Given the description of an element on the screen output the (x, y) to click on. 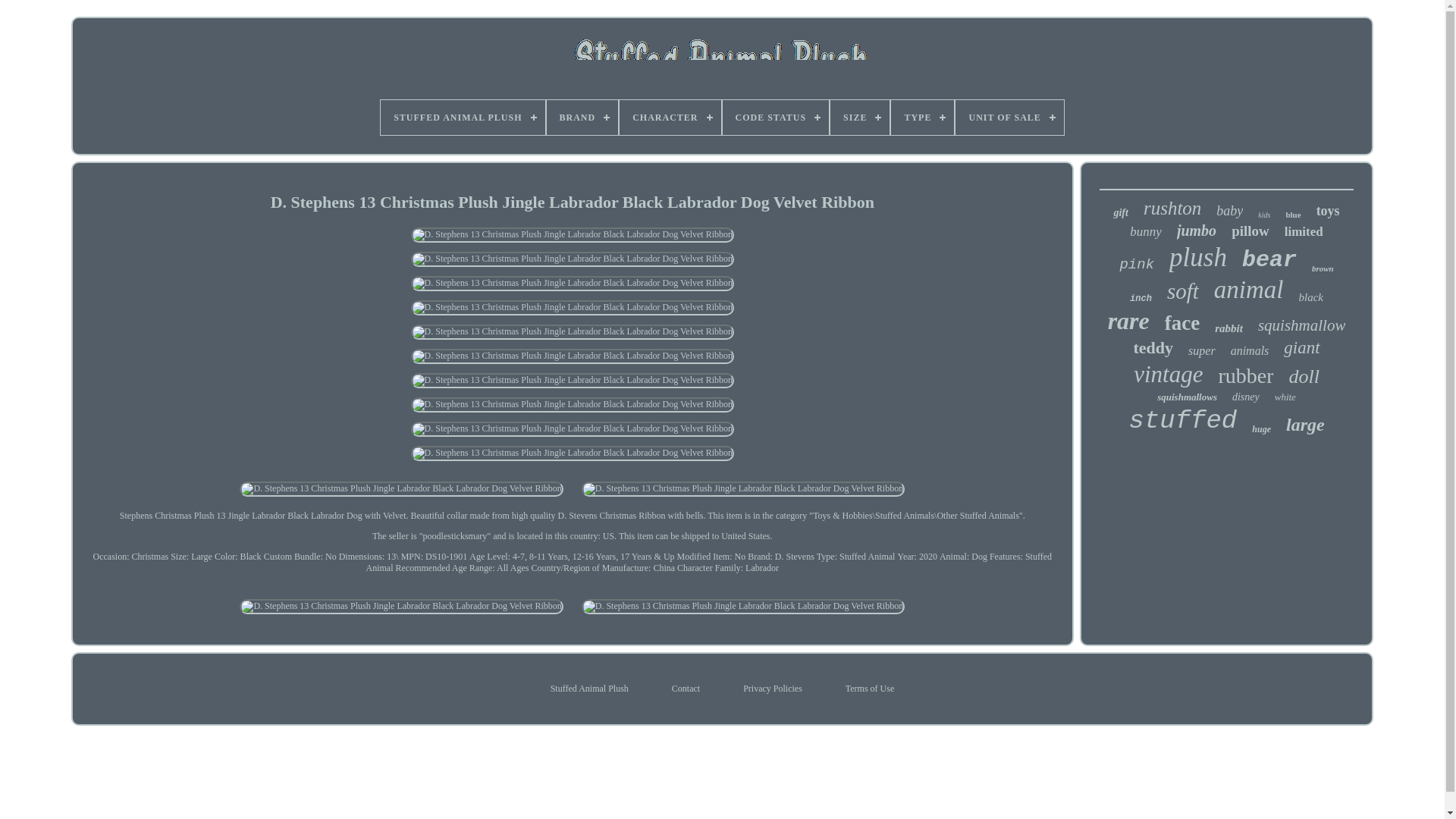
CHARACTER (670, 117)
